Given the description of an element on the screen output the (x, y) to click on. 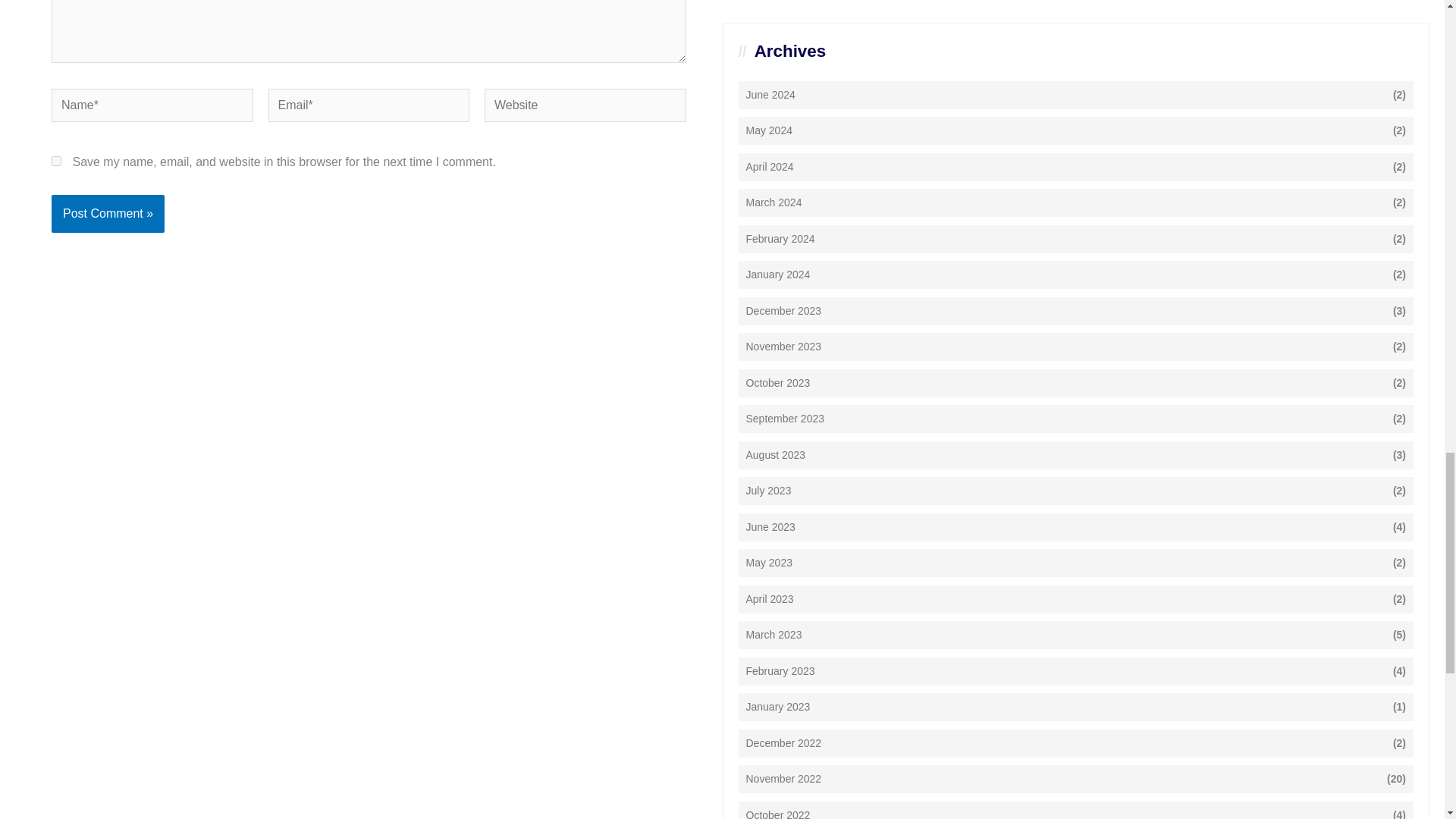
yes (55, 161)
